Given the description of an element on the screen output the (x, y) to click on. 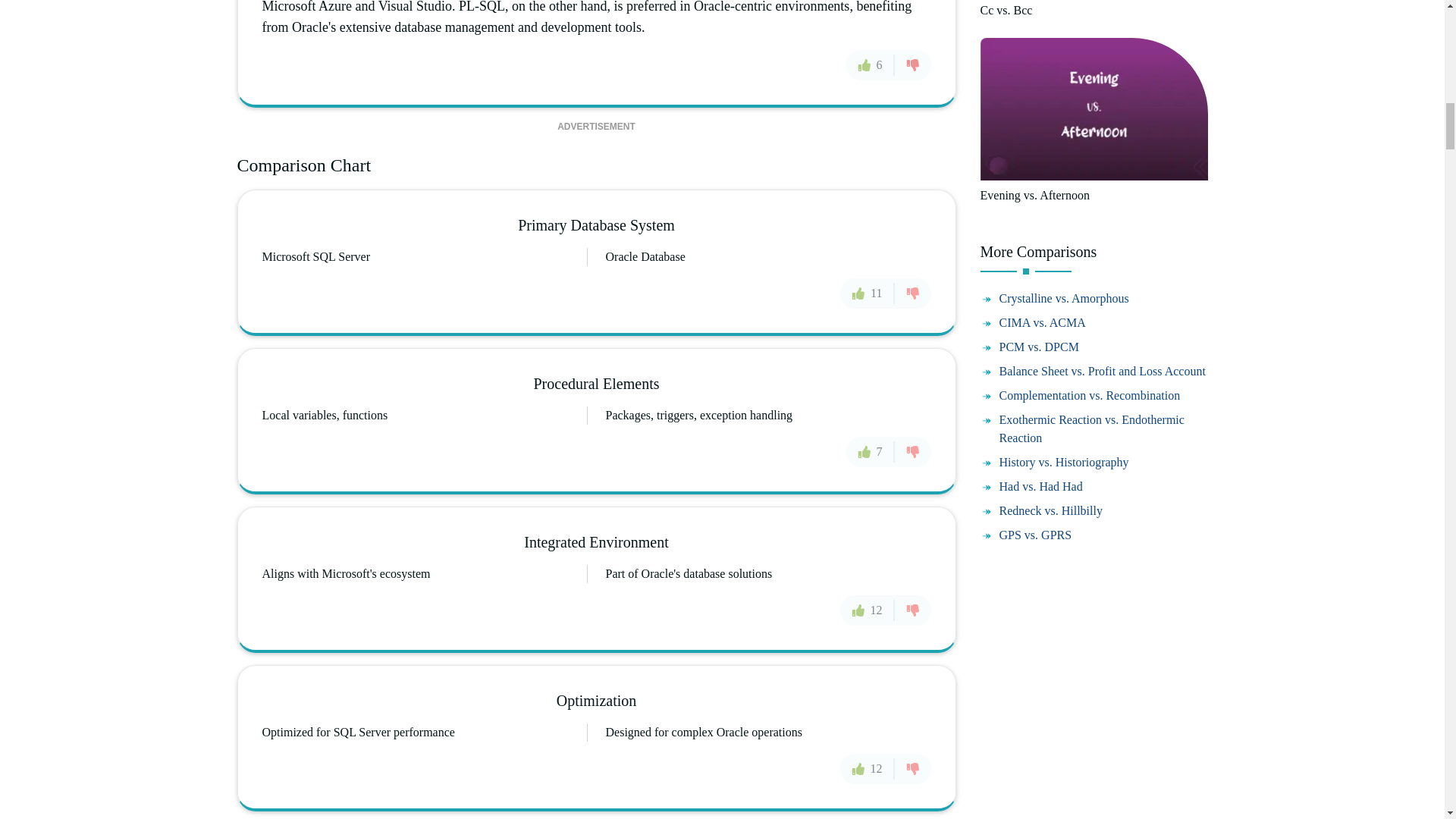
12 (867, 768)
7 (870, 451)
6 (870, 64)
12 (867, 609)
11 (866, 292)
